Given the description of an element on the screen output the (x, y) to click on. 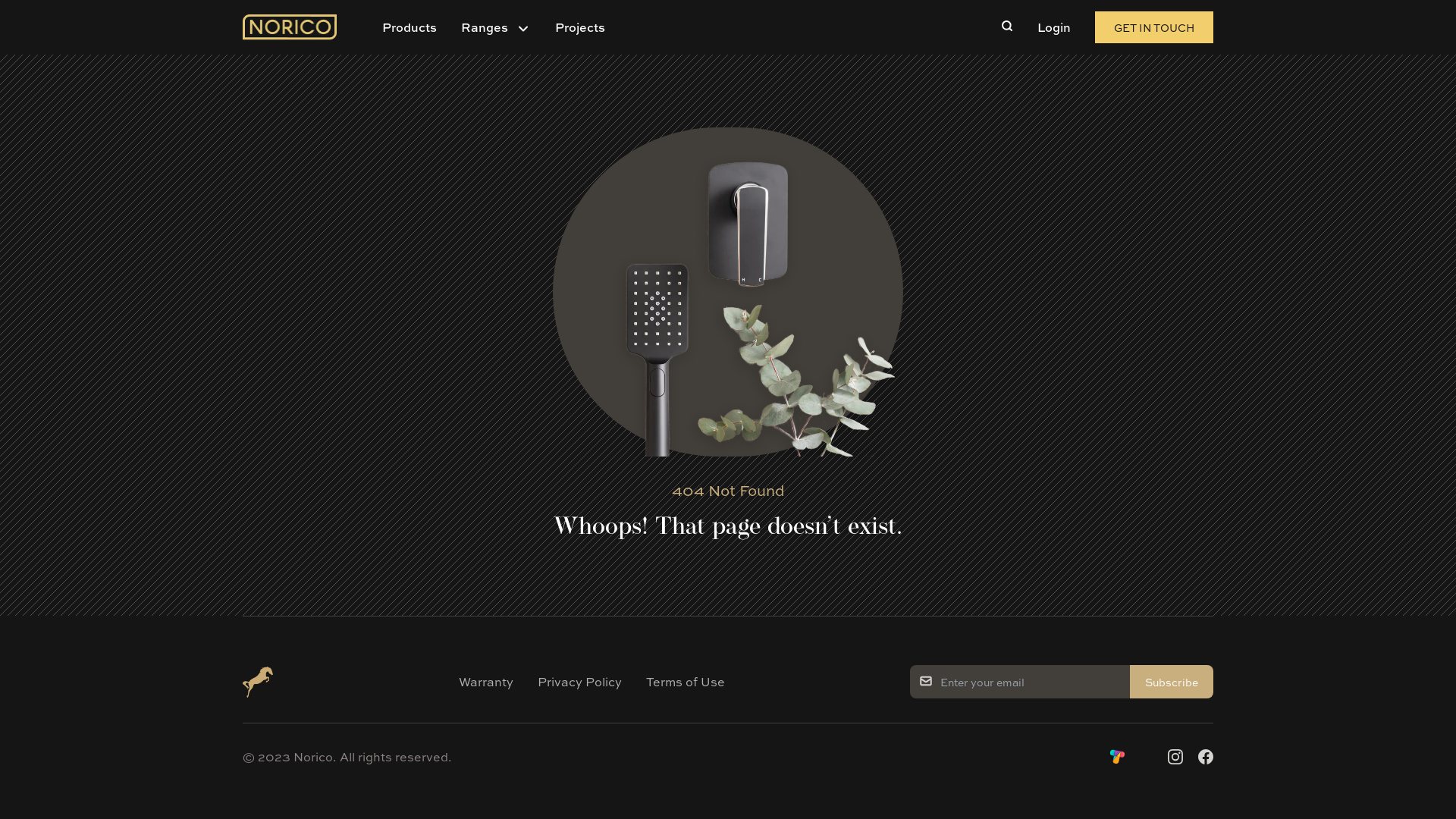
Terms of Use Element type: text (685, 681)
Login Element type: text (1053, 27)
Privacy Policy Element type: text (578, 681)
Products Element type: text (409, 27)
Warranty Element type: text (485, 681)
Projects Element type: text (580, 27)
Subscribe Element type: text (1171, 681)
GET IN TOUCH Element type: text (1154, 27)
